Given the description of an element on the screen output the (x, y) to click on. 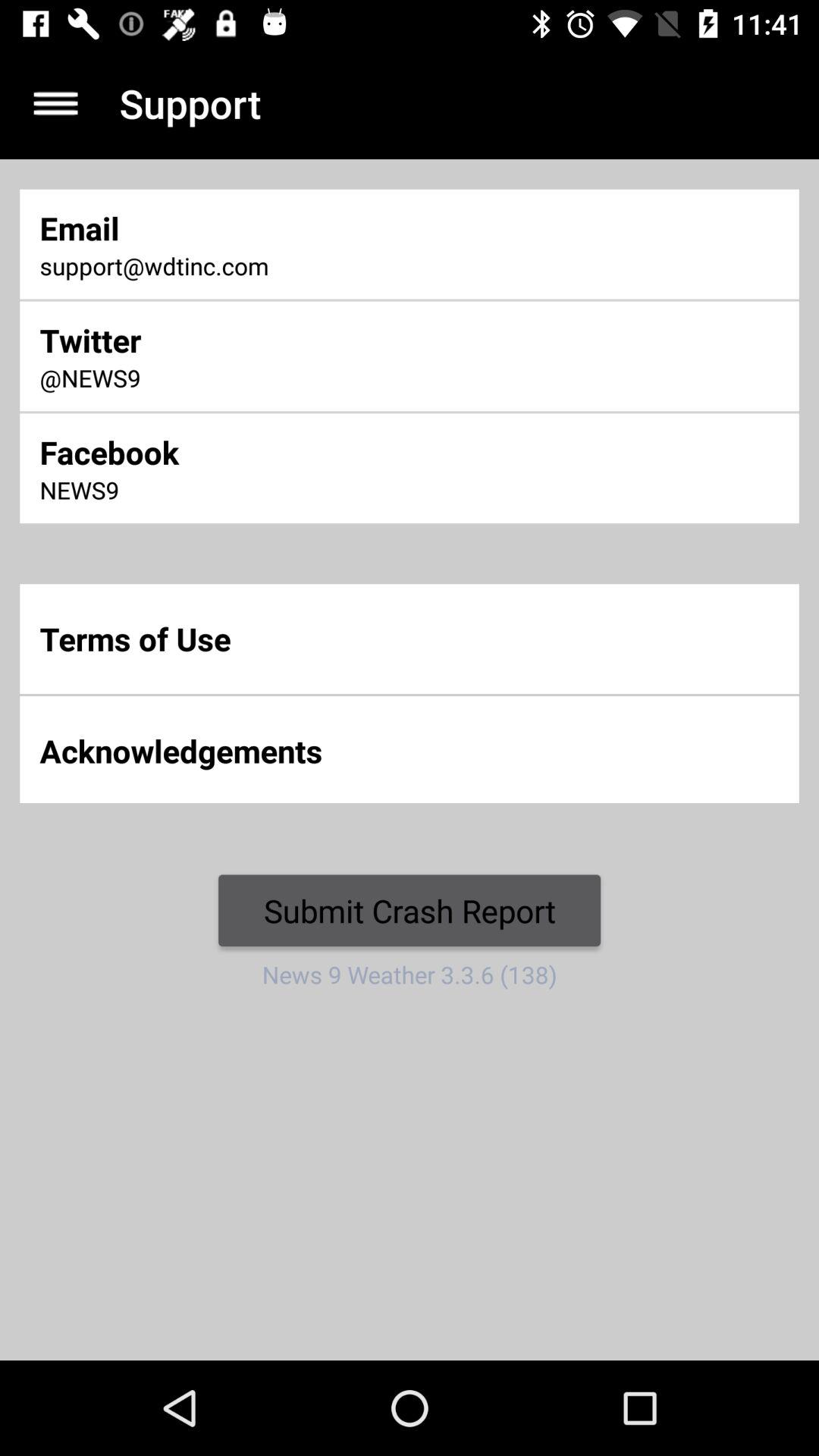
open menu (55, 103)
